Given the description of an element on the screen output the (x, y) to click on. 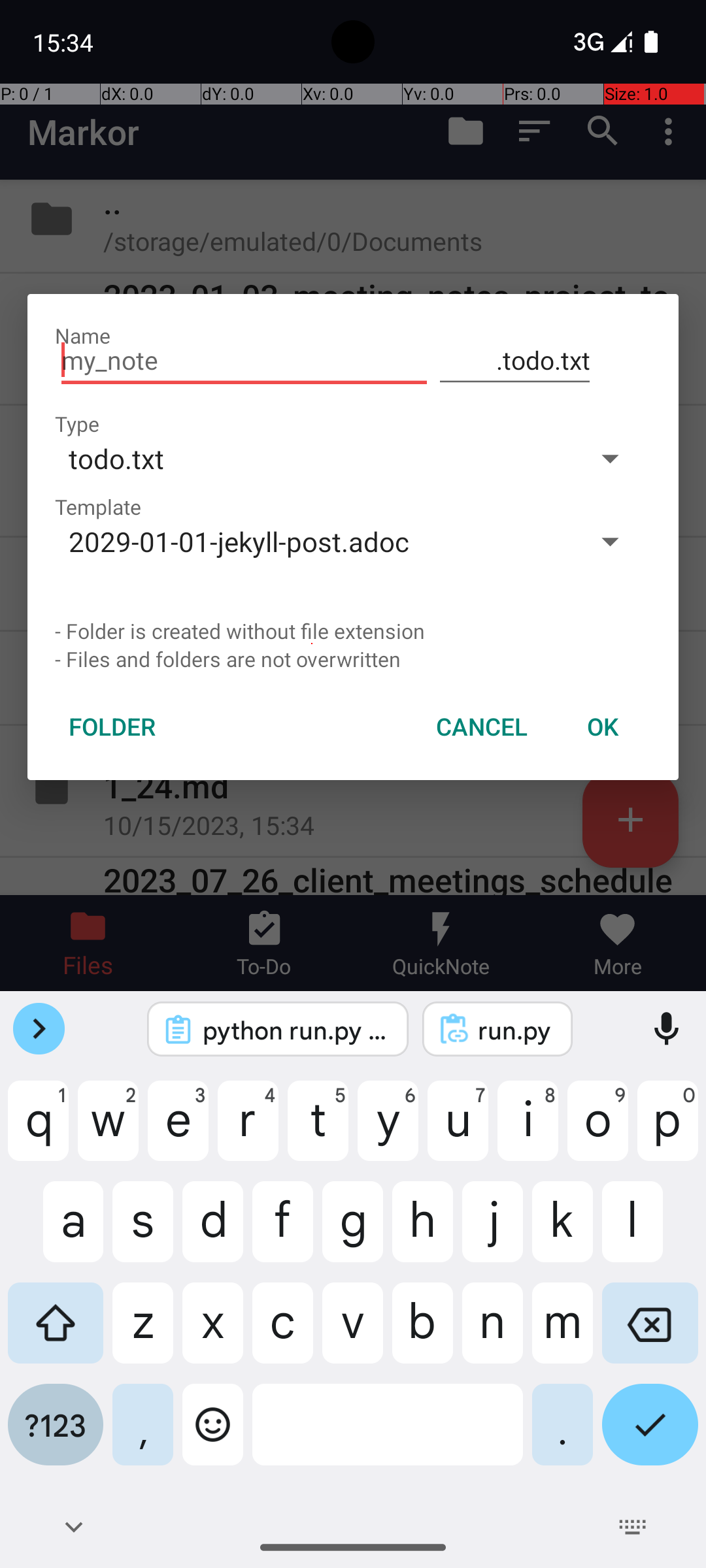
.todo.txt Element type: android.widget.EditText (514, 360)
python run.py \   --suite_family=android_world \   --agent_name=t3a_gpt4 \   --perform_emulator_setup \   --tasks=ContactsAddContact,ClockStopWatchRunning \  # Optional: Just run on a subset. Element type: android.widget.TextView (294, 1029)
run.py Element type: android.widget.TextView (514, 1029)
